Given the description of an element on the screen output the (x, y) to click on. 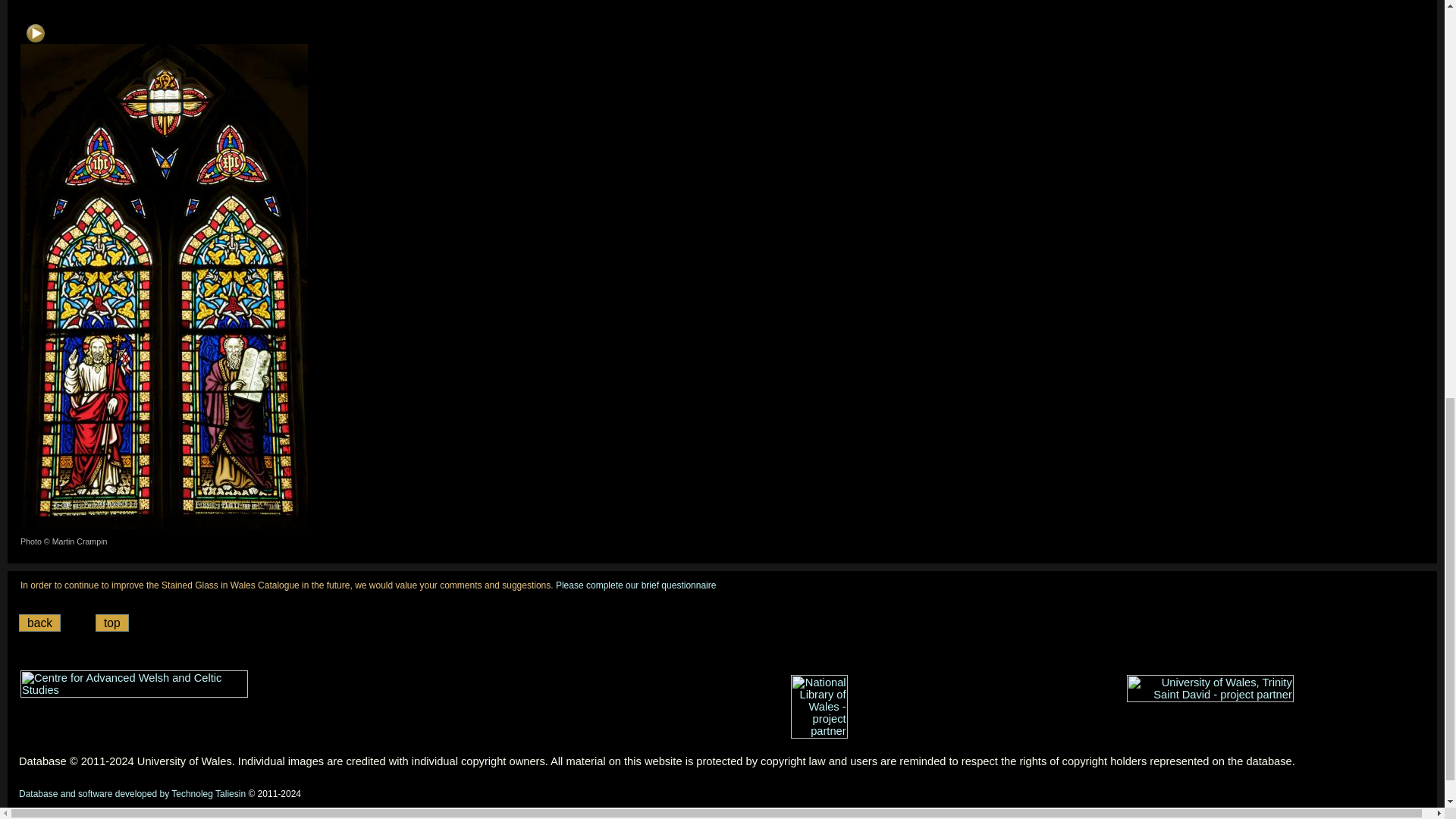
National Library of Wales - project partner (818, 706)
University of Wales, Trinity Saint David - project partner (1210, 687)
Centre for Advanced Welsh and Celtic Studies (133, 683)
next image (35, 33)
